Given the description of an element on the screen output the (x, y) to click on. 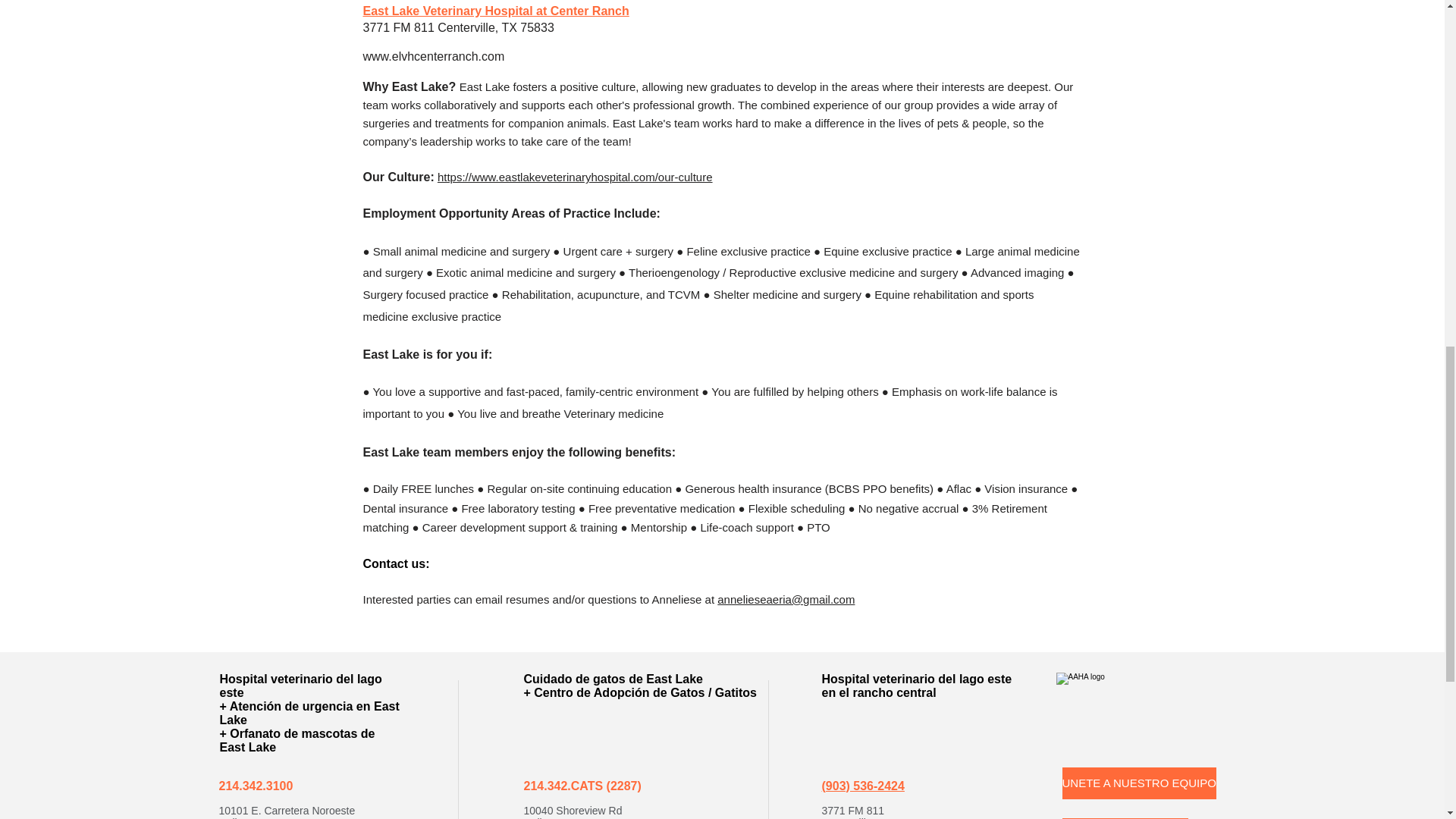
214.342.3100 (255, 785)
10101 E. Carretera Noroeste (286, 810)
www.elvhcenterranch.com (432, 56)
10040 Shoreview Rd (571, 810)
